Given the description of an element on the screen output the (x, y) to click on. 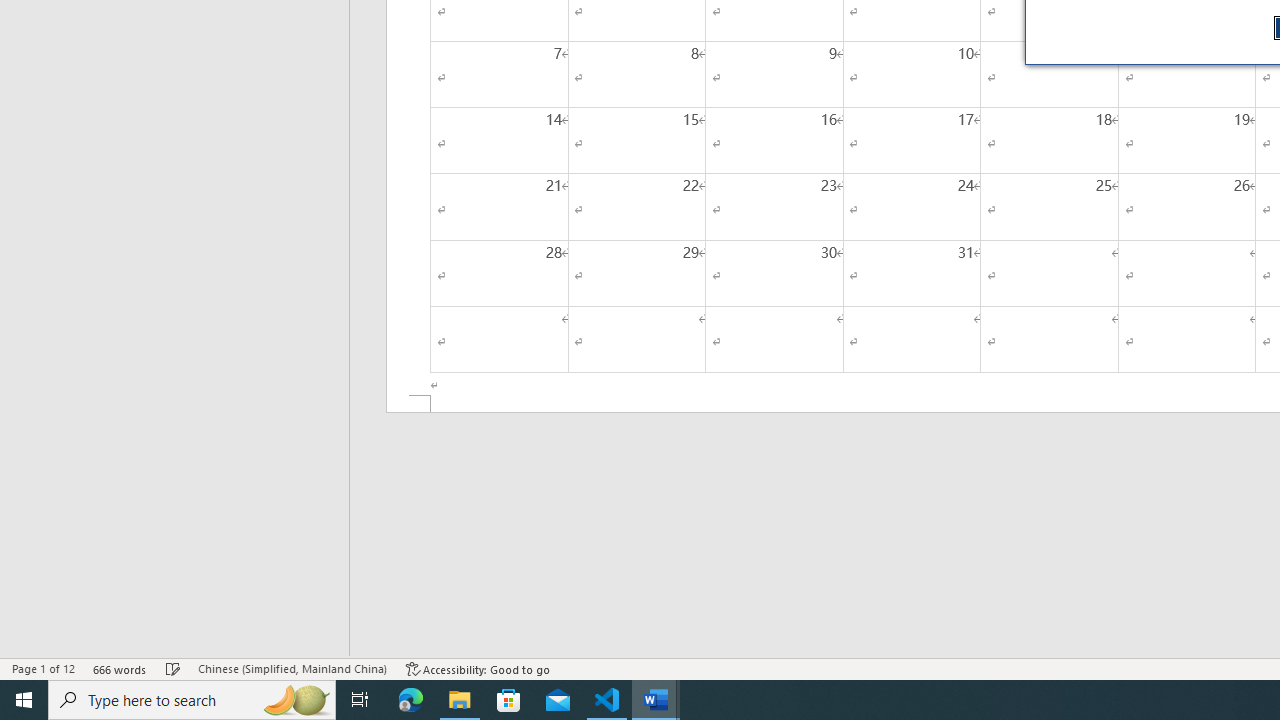
Word - 2 running windows (656, 699)
